Given the description of an element on the screen output the (x, y) to click on. 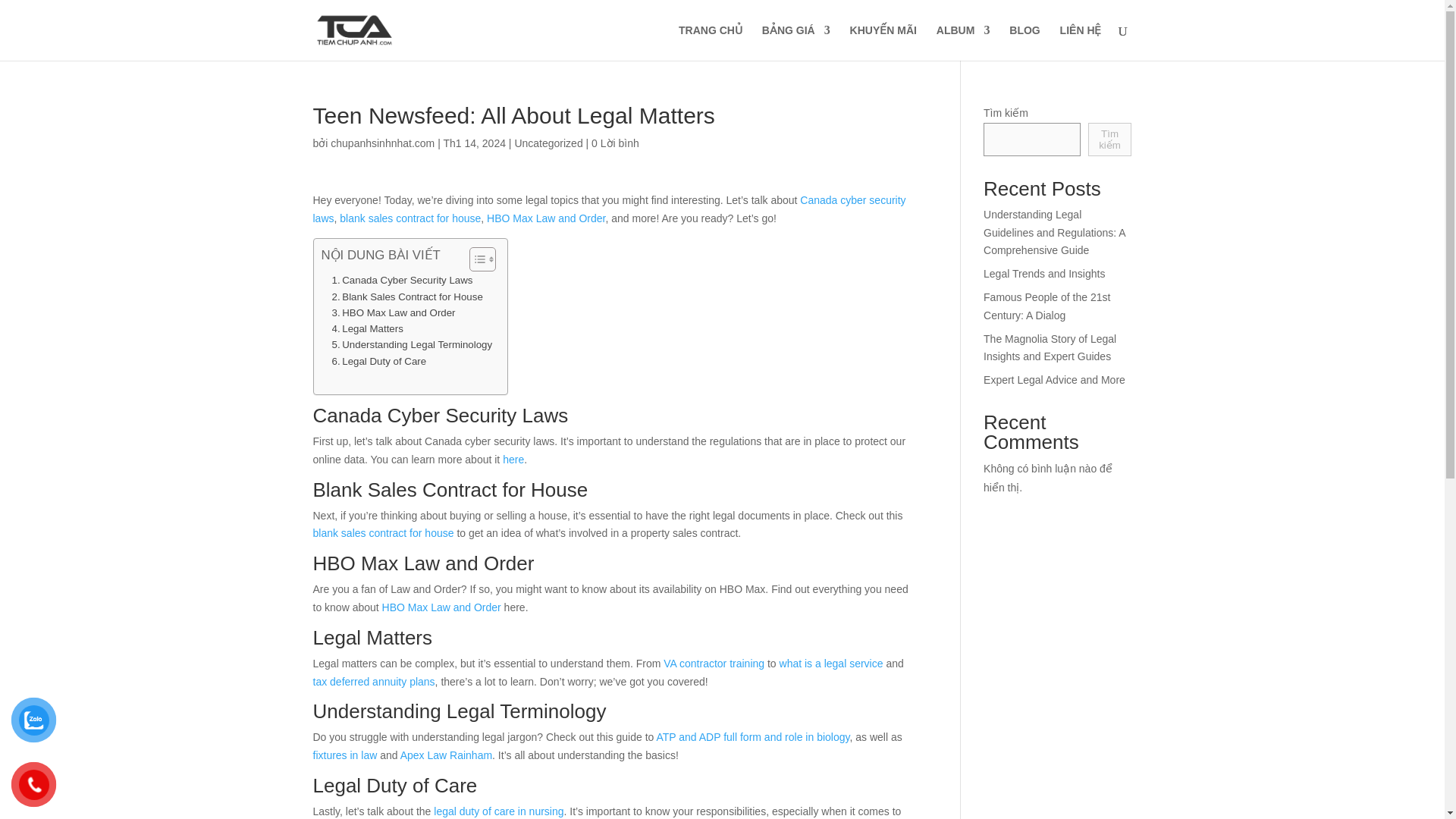
Legal Matters (367, 328)
Uncategorized (547, 143)
ALBUM (963, 42)
Understanding Legal Terminology (412, 344)
Blank Sales Contract for House (407, 296)
Canada Cyber Security Laws (402, 279)
chupanhsinhnhat.com (381, 143)
Legal Duty of Care (378, 360)
HBO Max Law and Order (393, 312)
